Given the description of an element on the screen output the (x, y) to click on. 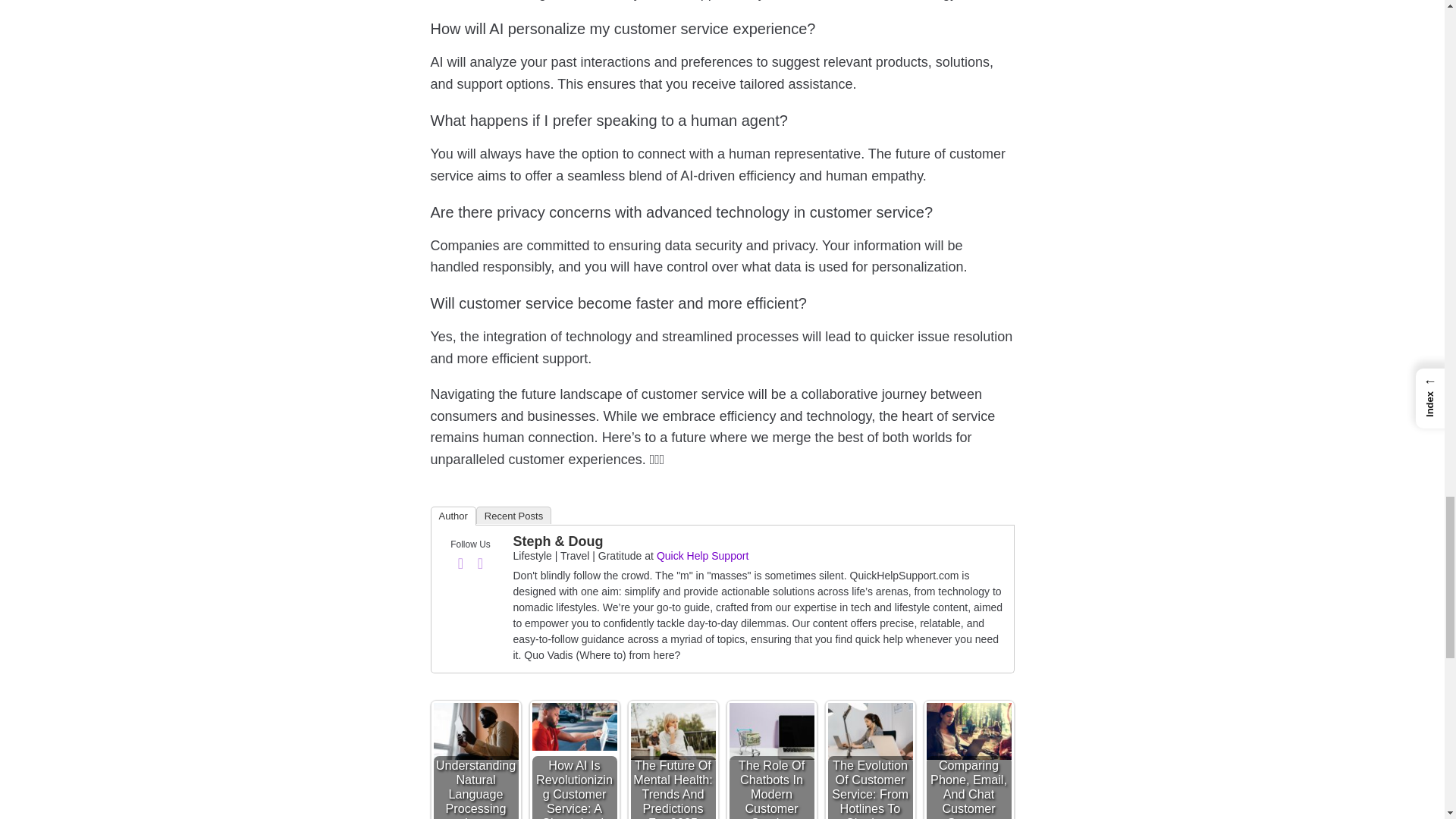
The Role Of Chatbots In Modern Customer Service (771, 731)
Recent Posts (513, 515)
Comparing Phone, Email, And Chat Customer Support (968, 731)
Quick Help Support (702, 555)
Twitter (480, 563)
The Future Of Mental Health: Trends And Predictions For 2025 (673, 731)
How AI Is Revolutionizing Customer Service: A Closer Look (574, 726)
Author (453, 515)
Facebook (460, 563)
